Given the description of an element on the screen output the (x, y) to click on. 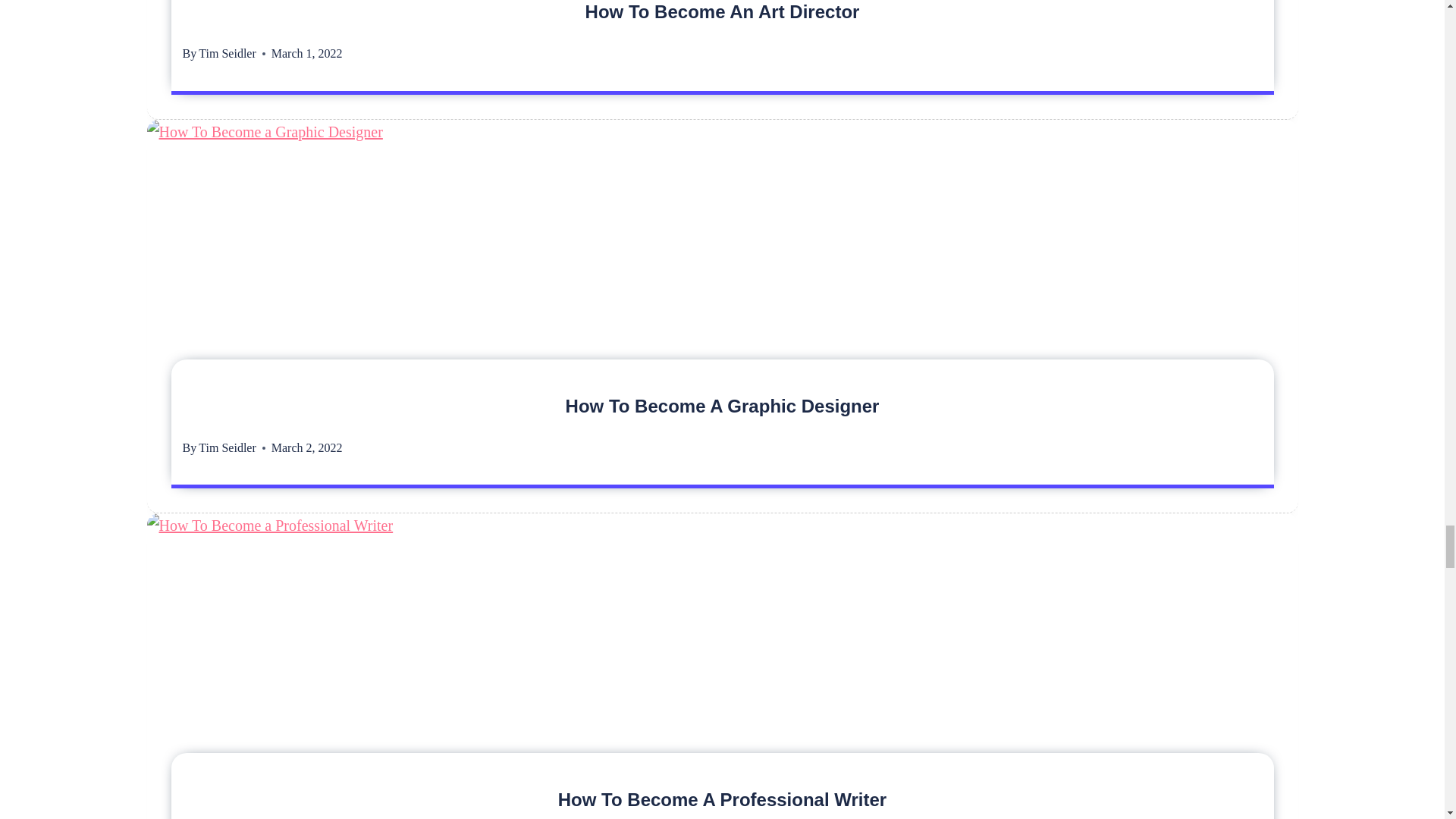
How To Become An Art Director (722, 11)
How To Become A Graphic Designer (722, 405)
Tim Seidler (227, 52)
Tim Seidler (227, 447)
